Given the description of an element on the screen output the (x, y) to click on. 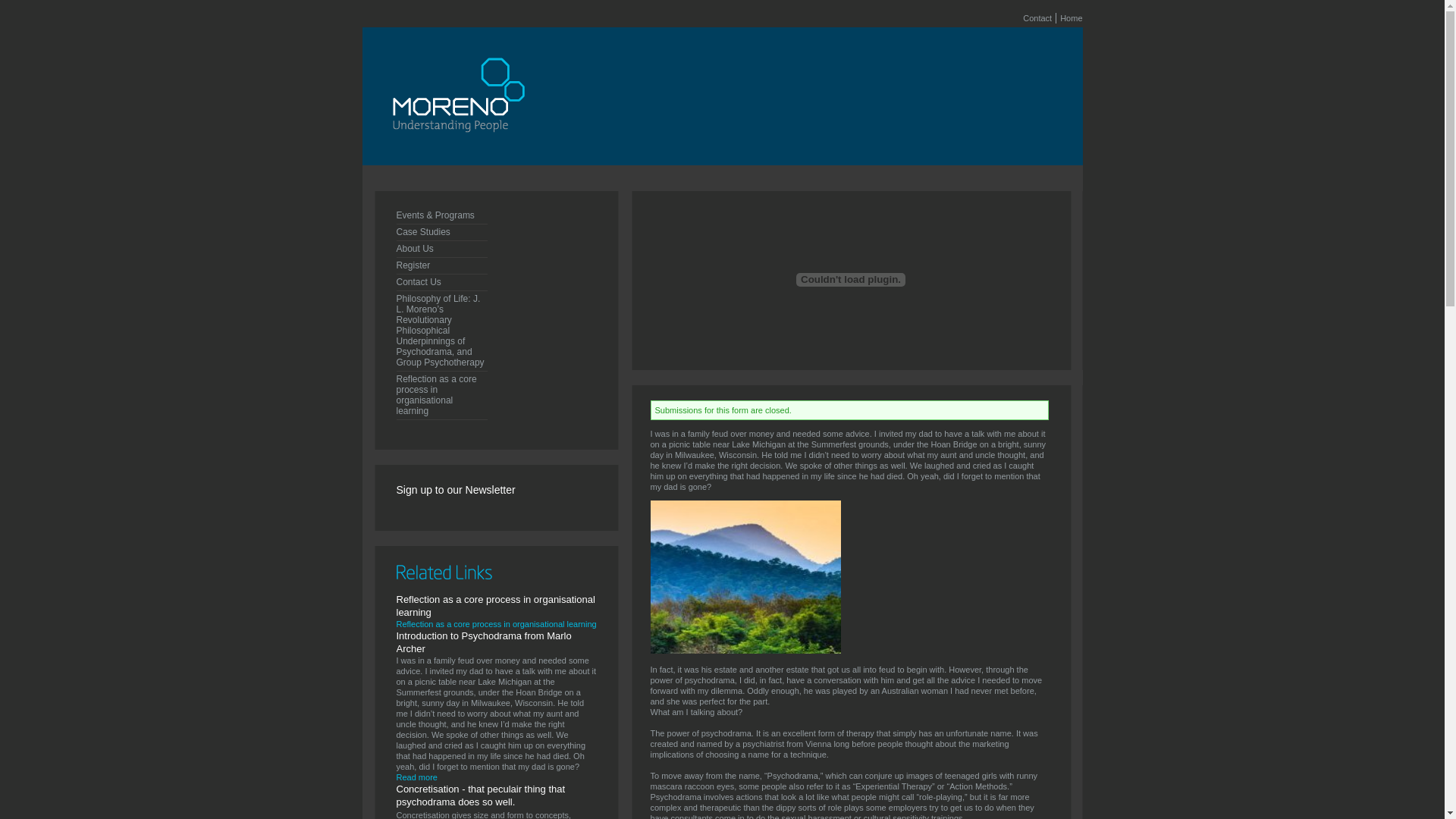
Home Element type: text (1071, 17)
Introduction to Psychodrama from Marlo Archer Element type: text (483, 642)
About Us Element type: text (440, 248)
Read more Element type: text (415, 776)
Reflection as a core process in organisational learning Element type: text (440, 394)
Home Element type: hover (458, 159)
Events & Programs Element type: text (440, 215)
Case Studies Element type: text (440, 231)
Reflection as a core process in organisational learning Element type: text (494, 605)
Register Element type: text (440, 265)
Contact Us Element type: text (440, 281)
Contact Element type: text (1036, 17)
Reflection as a core process in organisational learning Element type: text (495, 623)
